Given the description of an element on the screen output the (x, y) to click on. 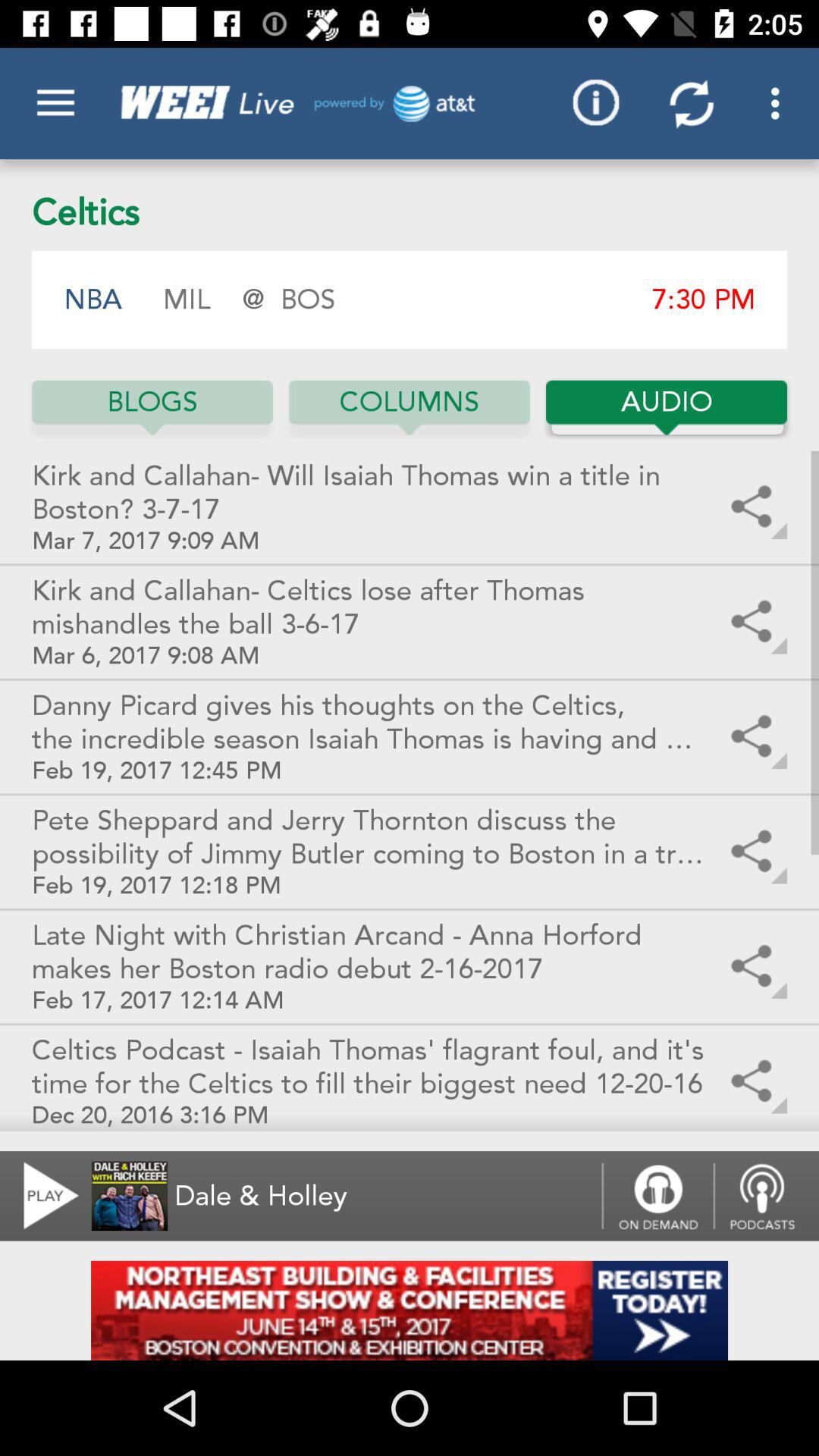
go to addverdisment (409, 1310)
